Given the description of an element on the screen output the (x, y) to click on. 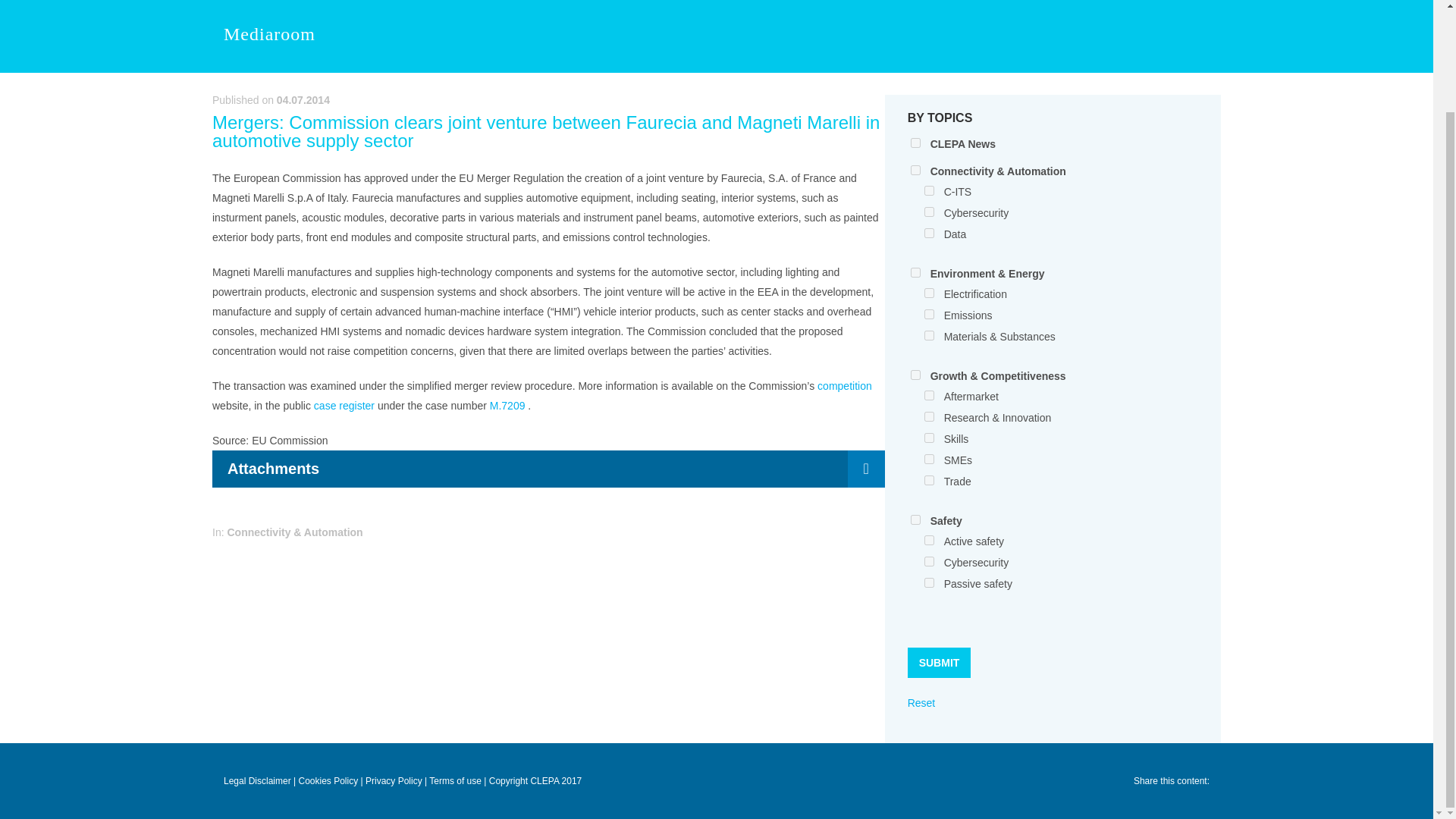
skills (929, 438)
trade (929, 480)
electrification (929, 293)
mobility-evolution (915, 170)
aftermarket (929, 395)
Submit (939, 662)
research-innovation (929, 416)
emissions (929, 314)
road-safety (915, 519)
smes (929, 459)
